Given the description of an element on the screen output the (x, y) to click on. 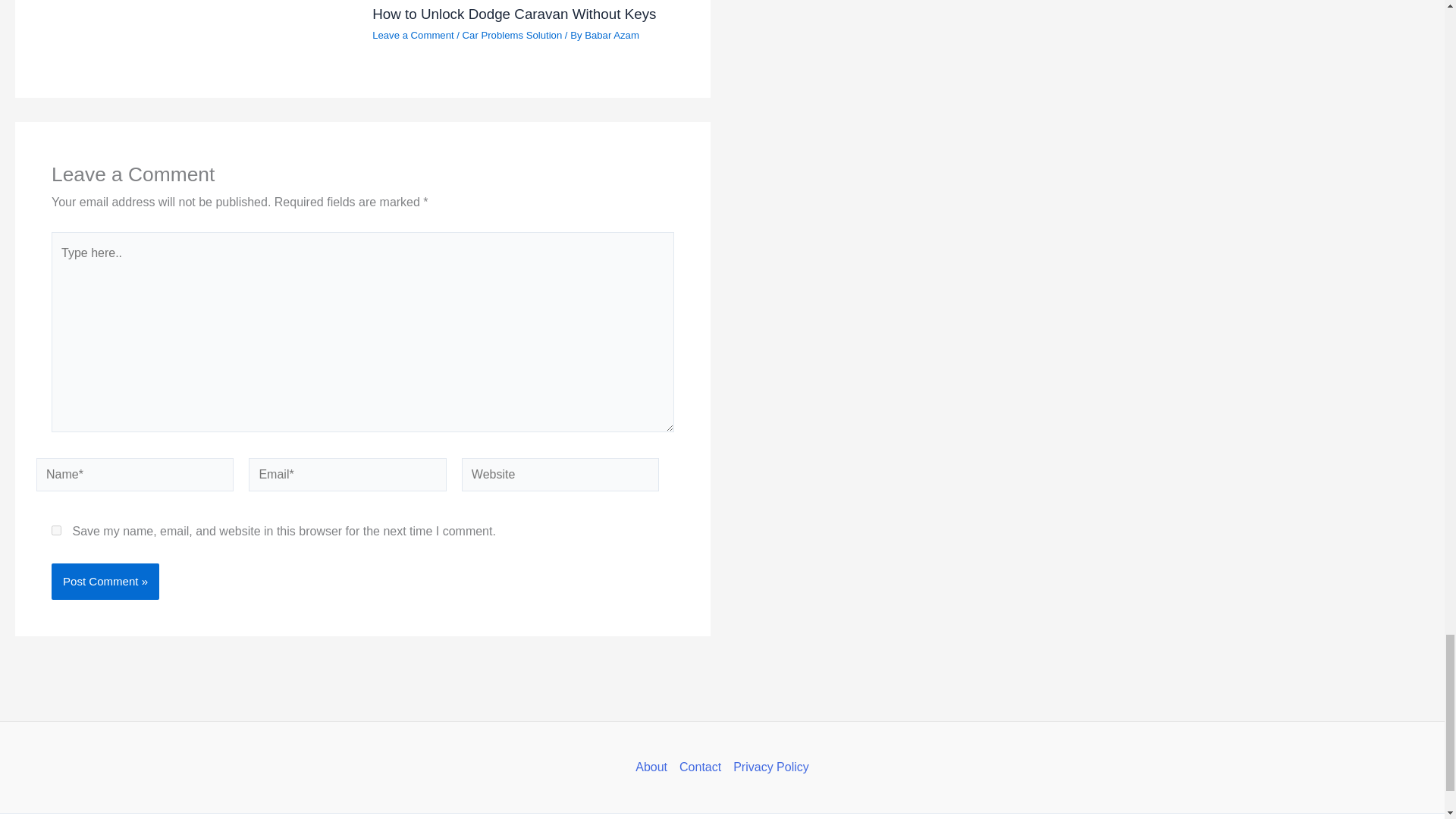
Leave a Comment (413, 34)
View all posts by Babar Azam (612, 34)
About (653, 766)
Car Problems Solution (512, 34)
yes (55, 530)
Privacy Policy (767, 766)
Contact (699, 766)
Babar Azam (612, 34)
How to Unlock Dodge Caravan Without Keys (514, 13)
